Given the description of an element on the screen output the (x, y) to click on. 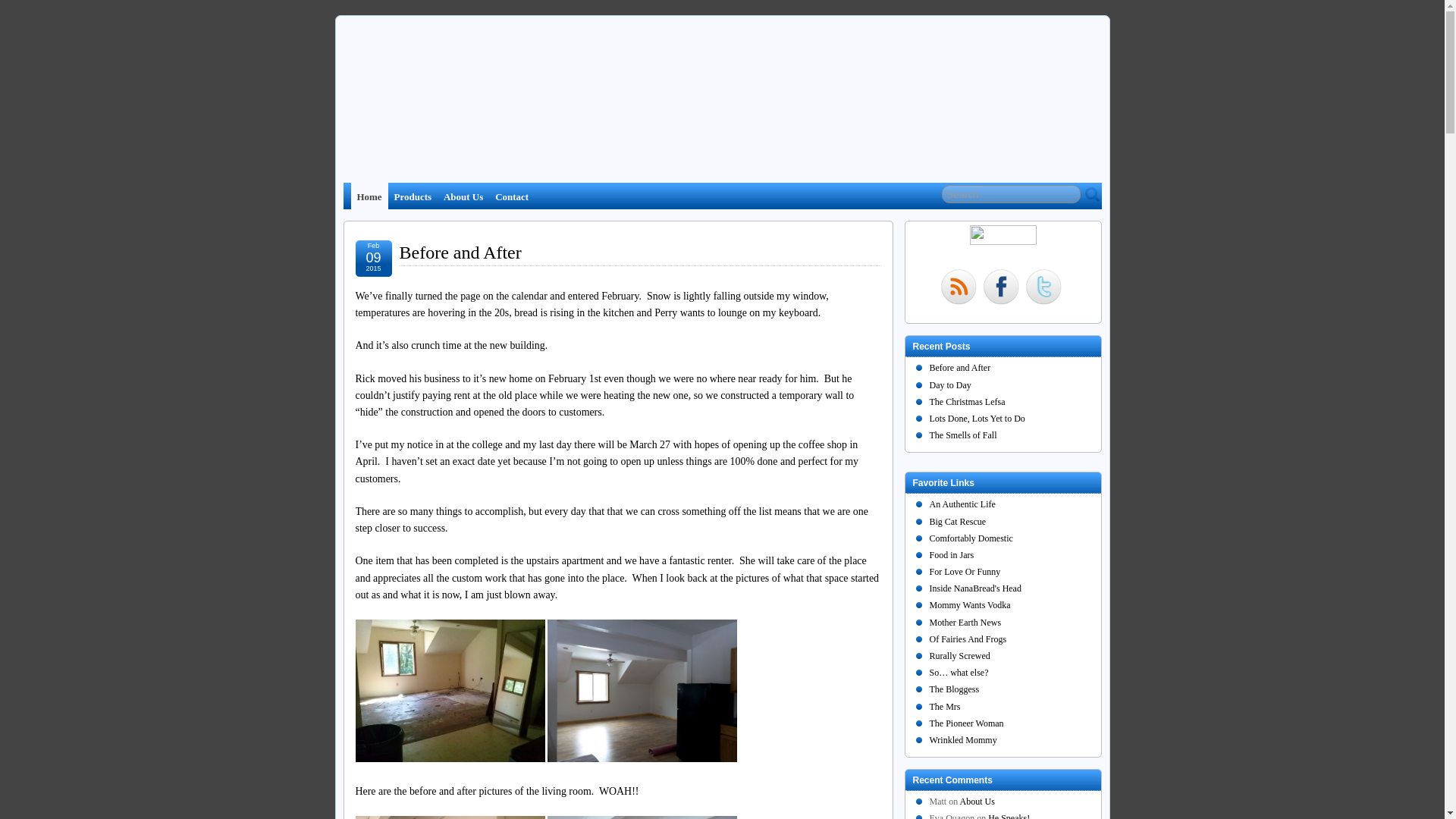
Products (413, 195)
Contact (511, 195)
Search (1011, 194)
Before and After (459, 252)
Facebook (1000, 288)
Home (368, 195)
RSS (958, 288)
Search (1011, 194)
Before and After (459, 252)
About Us (463, 195)
Twitter (1043, 288)
